Given the description of an element on the screen output the (x, y) to click on. 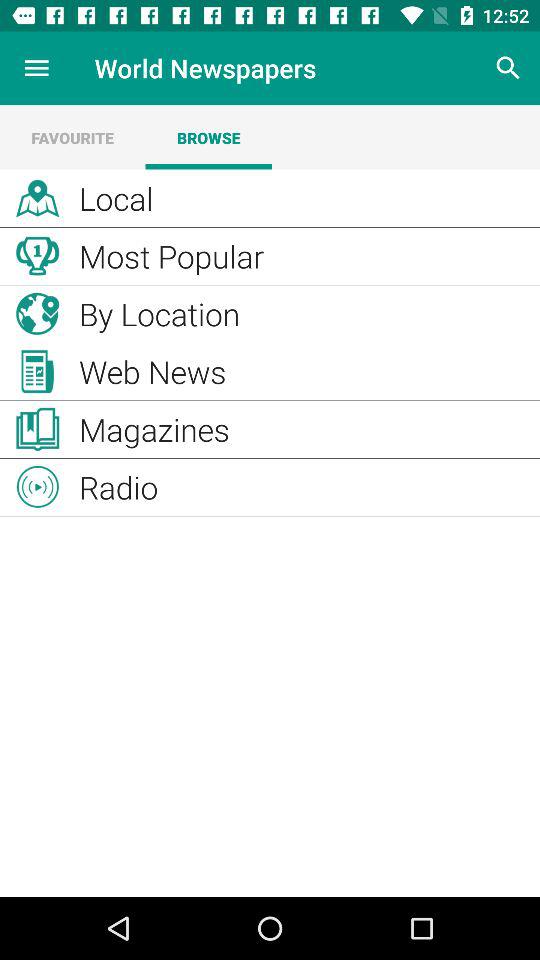
search (508, 67)
